Given the description of an element on the screen output the (x, y) to click on. 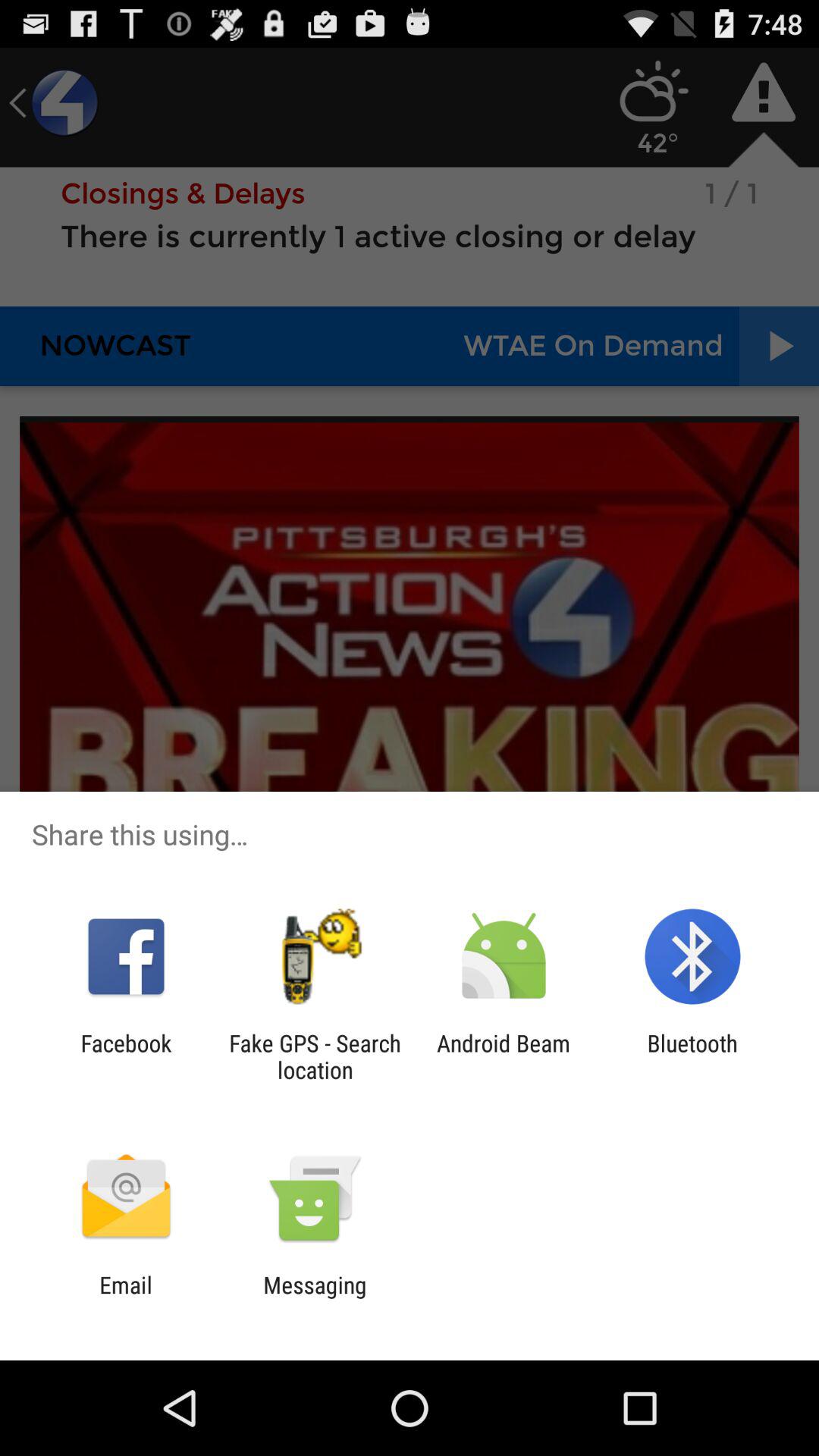
select the item to the left of bluetooth item (503, 1056)
